Given the description of an element on the screen output the (x, y) to click on. 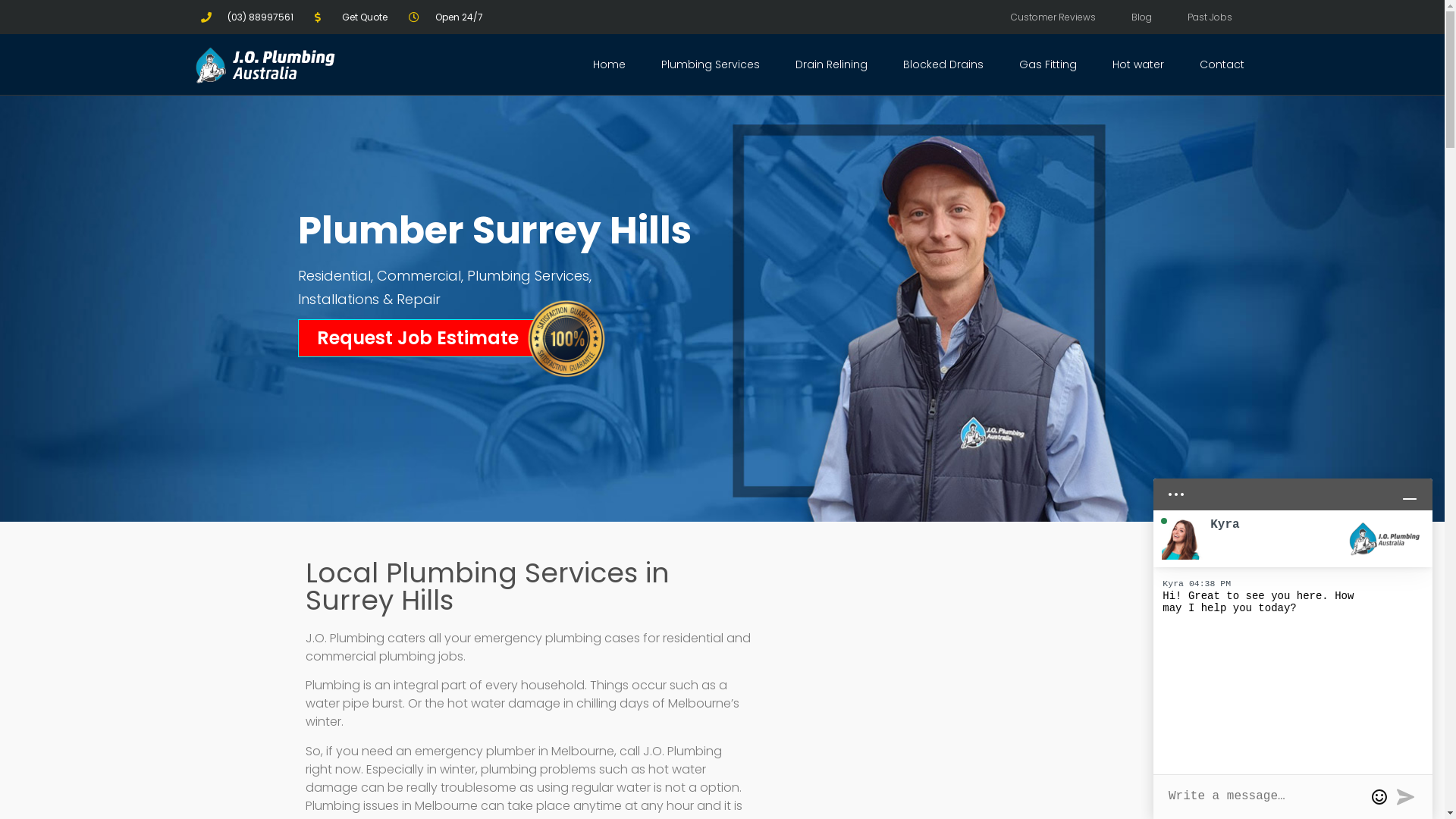
Blog Element type: text (1141, 16)
Drain Relining Element type: text (831, 64)
Request Job Estimate Element type: text (416, 338)
Blocked Drains Element type: text (943, 64)
Hot water Element type: text (1138, 64)
Customer Reviews Element type: text (1052, 16)
Past Jobs Element type: text (1209, 16)
Gas Fitting Element type: text (1047, 64)
Surrey Hills, Victoria, Australia Element type: hover (951, 673)
Plumbing-satisfaction-guarantee Element type: hover (565, 338)
Contact Element type: text (1221, 64)
Plumbing Services Element type: text (710, 64)
Home Element type: text (608, 64)
Get Quote Element type: text (350, 17)
(03) 88997561 Element type: text (246, 17)
